Given the description of an element on the screen output the (x, y) to click on. 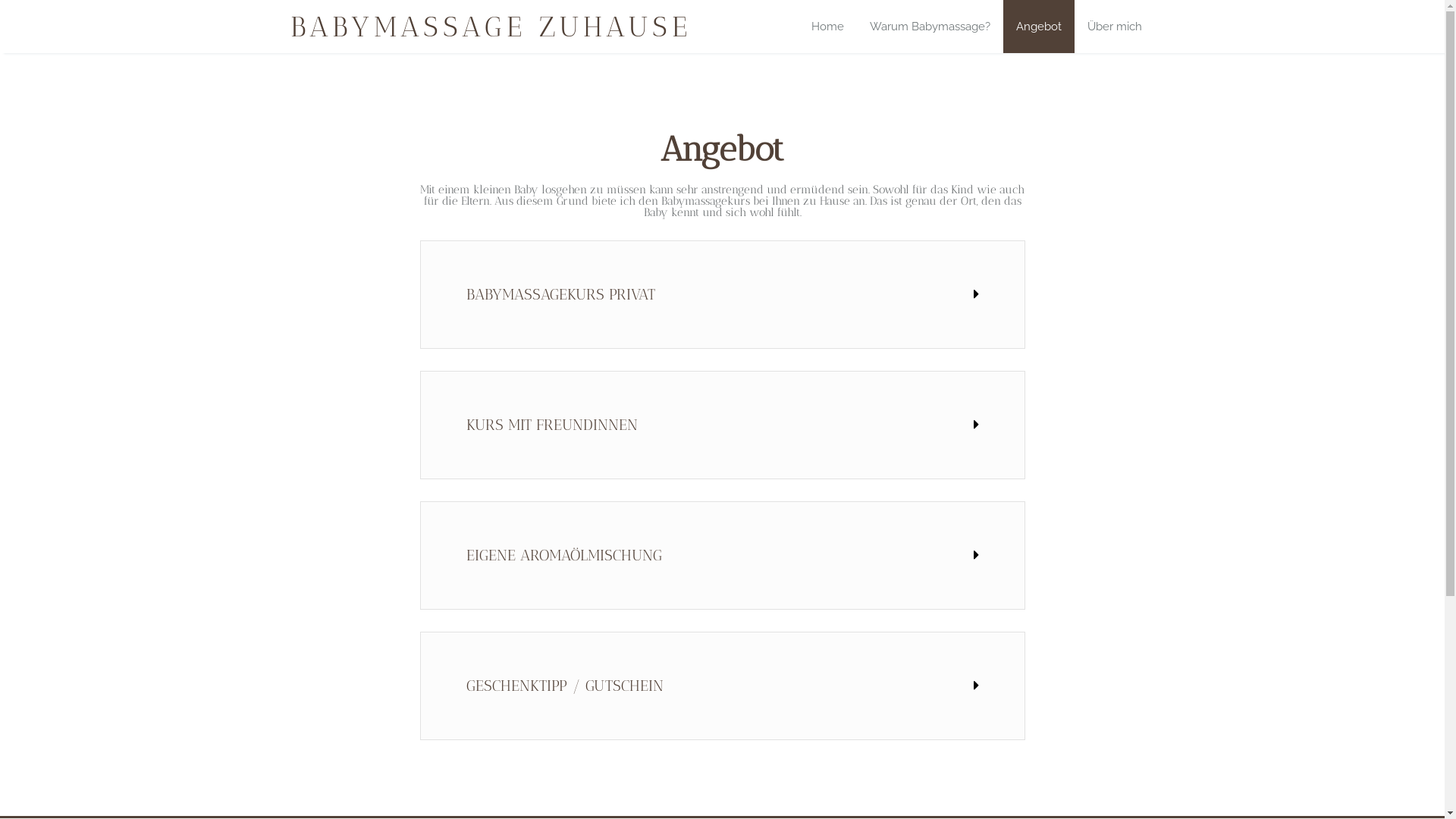
BABYMASSAGEKURS PRIVAT Element type: text (559, 294)
Angebot Element type: text (1037, 26)
Home Element type: text (826, 26)
BABYMASSAGE ZUHAUSE Element type: text (489, 26)
GESCHENKTIPP / GUTSCHEIN Element type: text (563, 685)
KURS MIT FREUNDINNEN Element type: text (551, 424)
Warum Babymassage? Element type: text (929, 26)
